Given the description of an element on the screen output the (x, y) to click on. 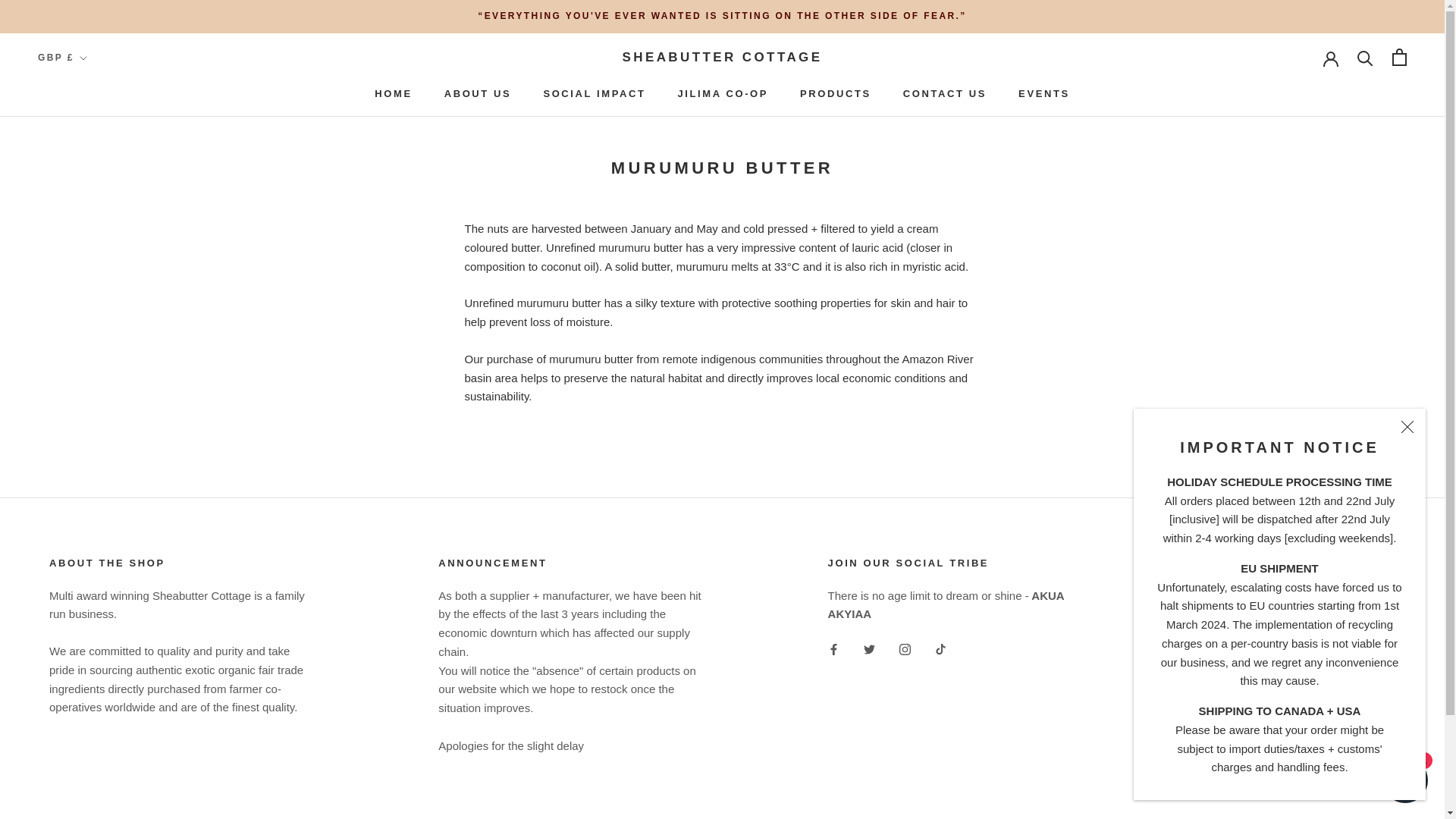
Shopify online store chat (393, 93)
